Given the description of an element on the screen output the (x, y) to click on. 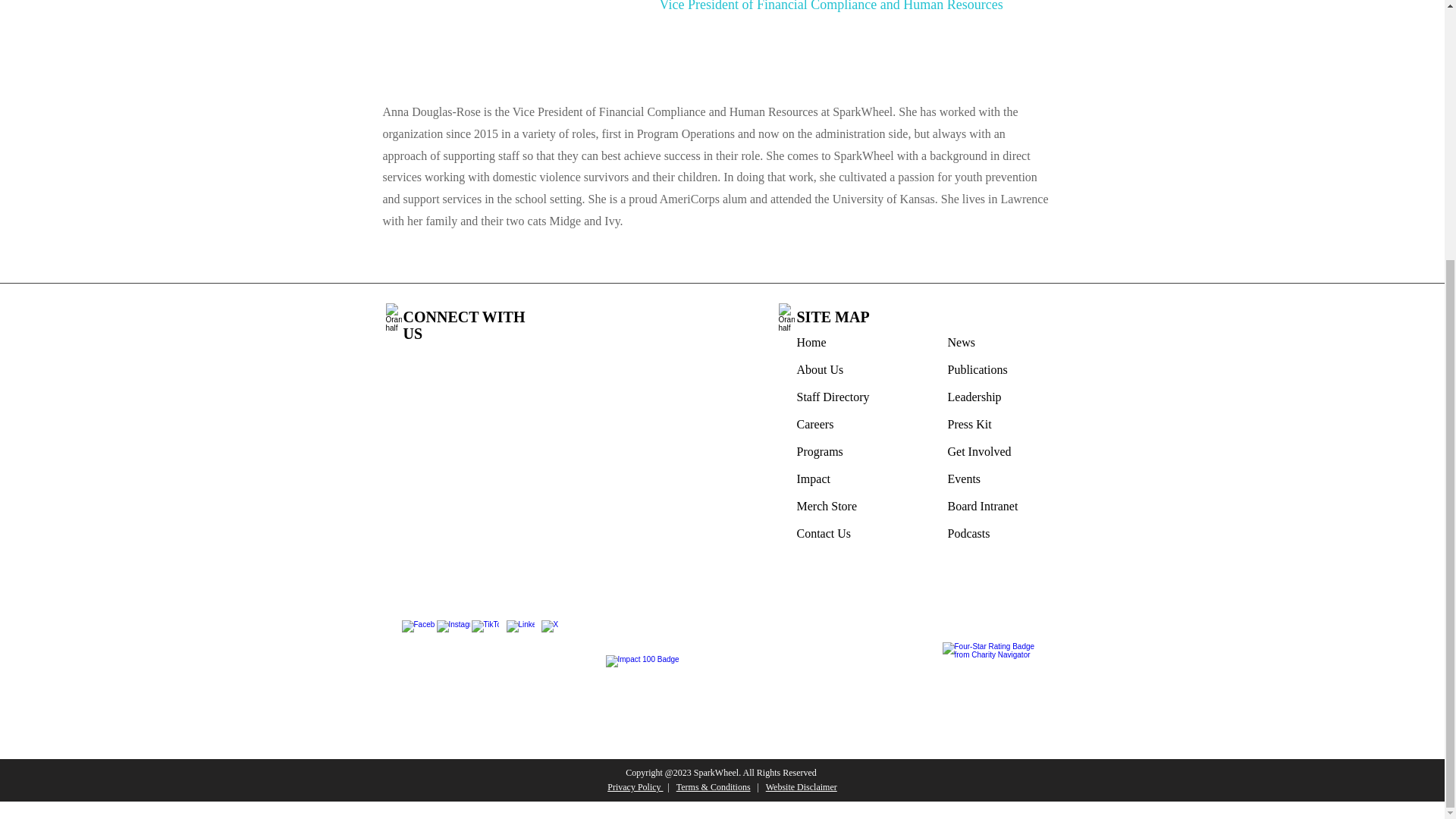
Anna Douglas Rose.jpg (502, 33)
Home (810, 341)
About Us (819, 369)
